Given the description of an element on the screen output the (x, y) to click on. 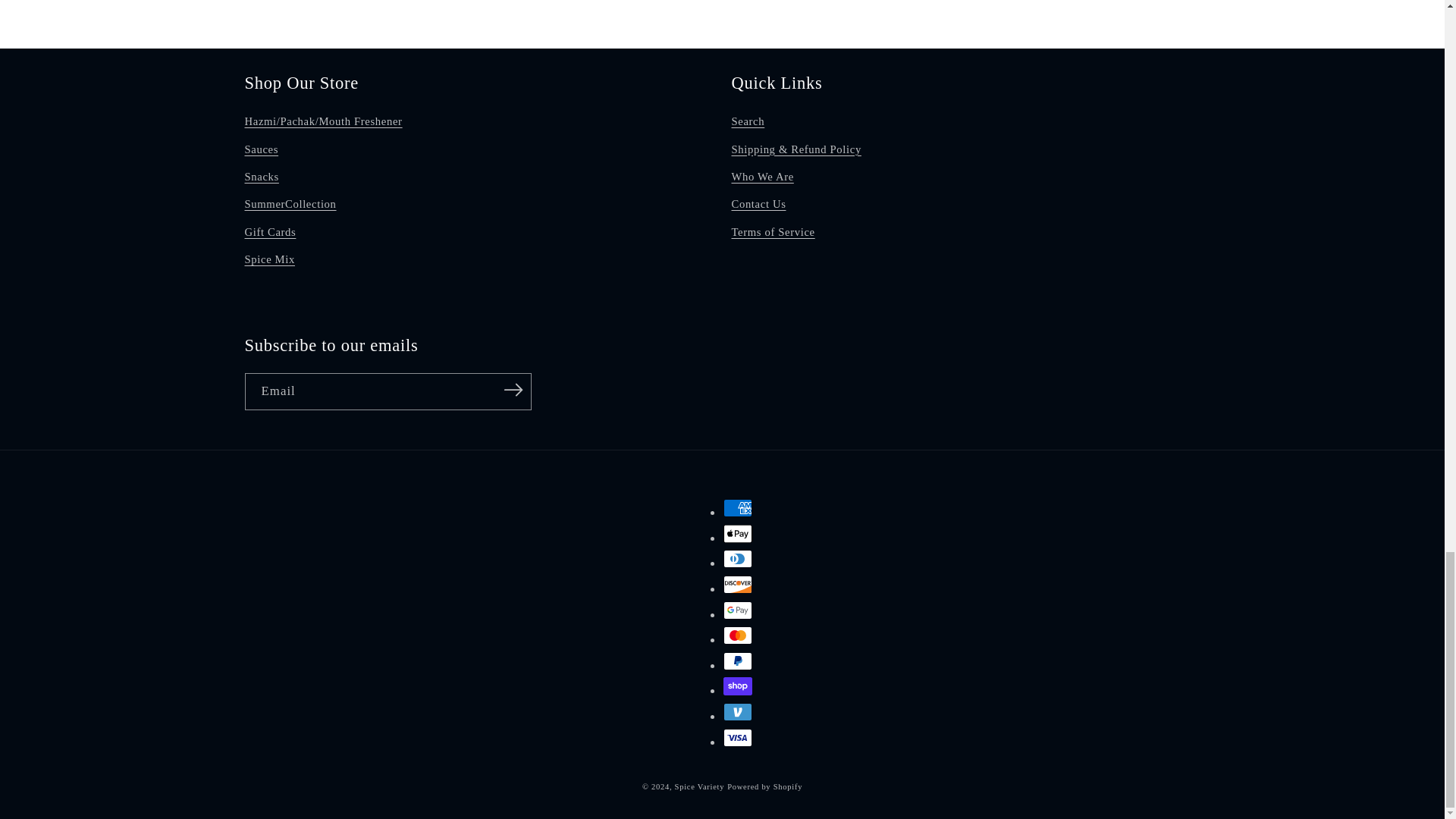
Google Pay (737, 610)
Diners Club (737, 558)
American Express (737, 507)
Shop Pay (737, 686)
PayPal (737, 660)
Mastercard (737, 635)
Discover (737, 584)
Apple Pay (737, 533)
